Given the description of an element on the screen output the (x, y) to click on. 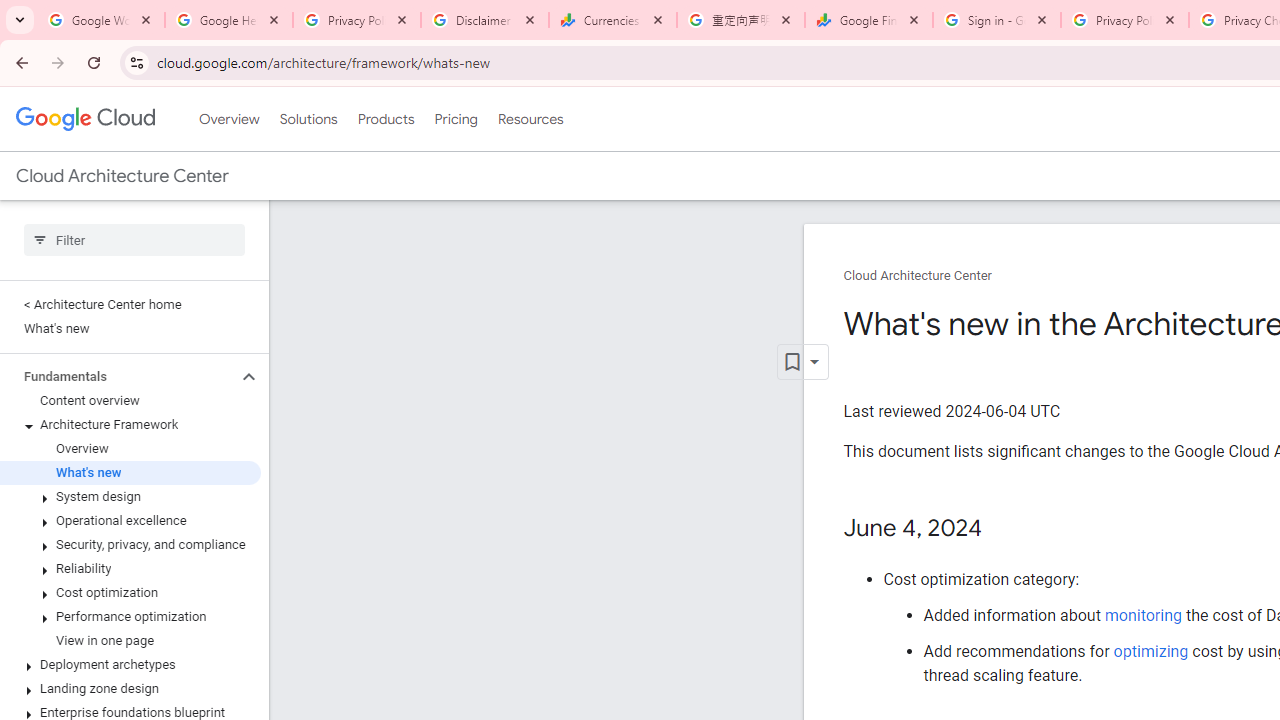
Open dropdown (802, 362)
What's new (130, 472)
monitoring (1142, 615)
System design (130, 497)
Solutions (308, 119)
Fundamentals (118, 376)
Security, privacy, and compliance (130, 544)
Google Cloud (84, 118)
optimizing (1151, 651)
Landing zone design (130, 688)
Cost optimization (130, 592)
Type to filter (134, 239)
